Given the description of an element on the screen output the (x, y) to click on. 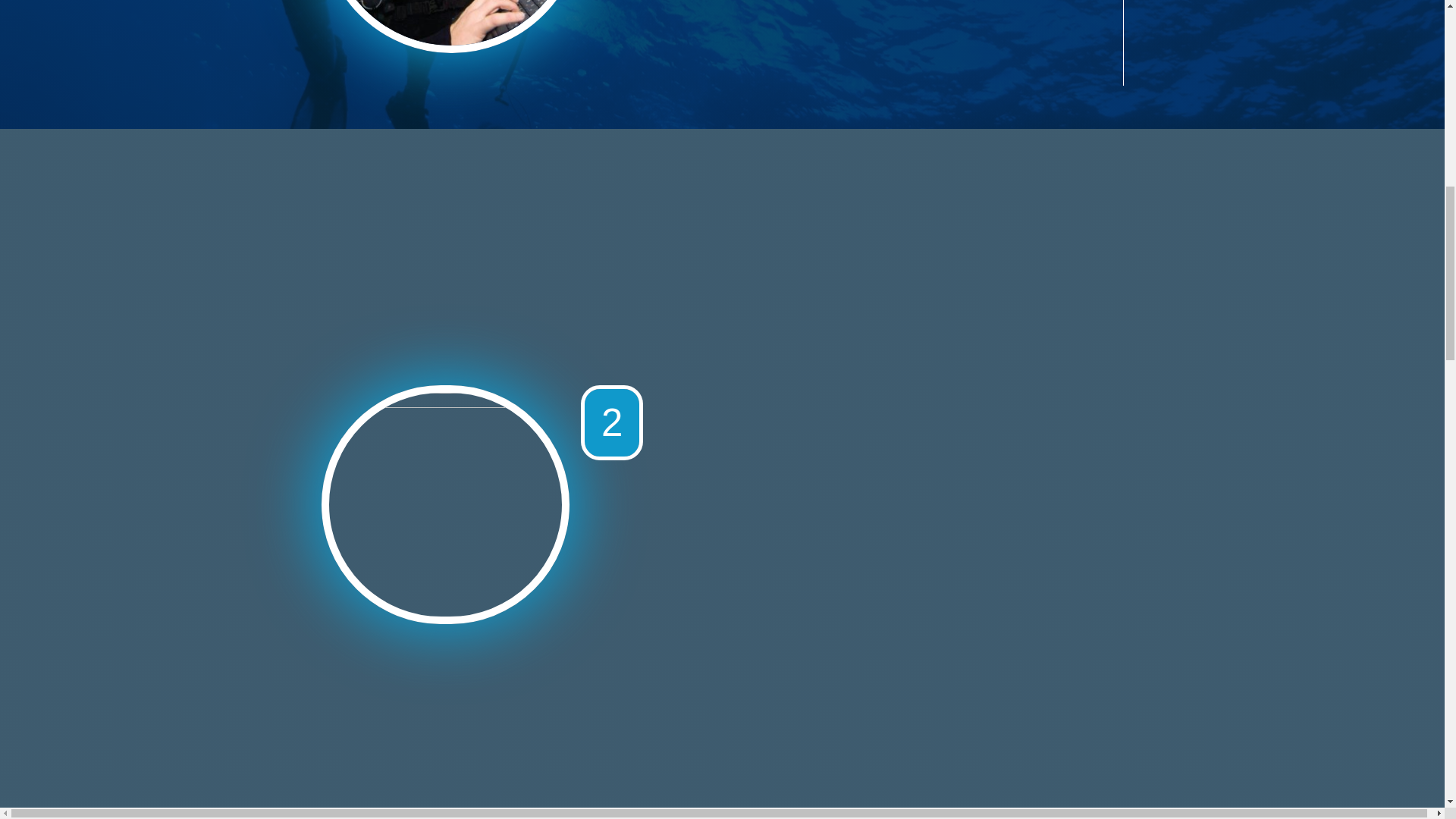
PADI-eLearning (451, 22)
medicalQ480x480 (445, 504)
